Given the description of an element on the screen output the (x, y) to click on. 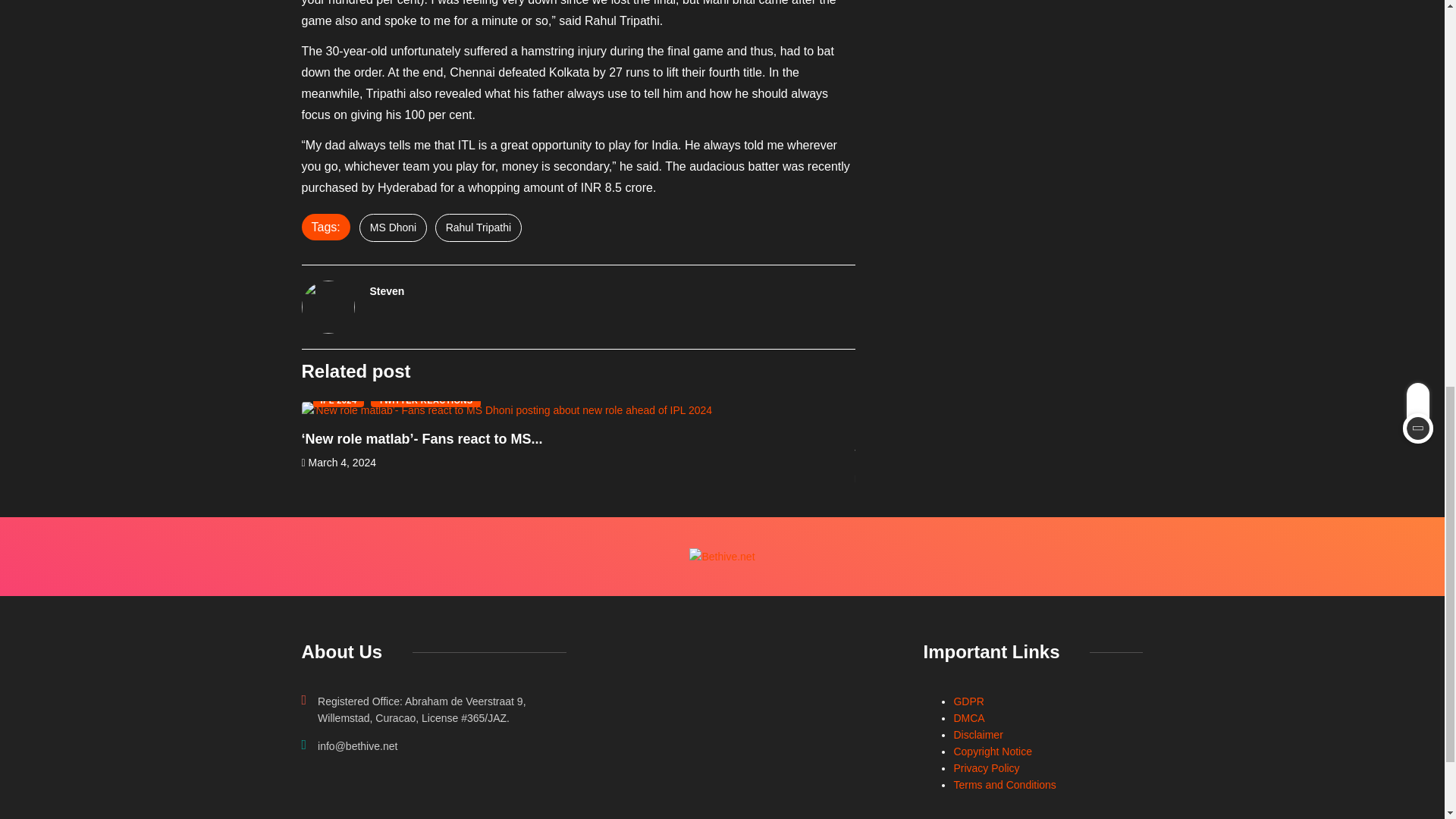
MS Dhoni (392, 227)
IPL 2024 (338, 400)
TWITTER REACTIONS (425, 400)
Rahul Tripathi (478, 227)
